Given the description of an element on the screen output the (x, y) to click on. 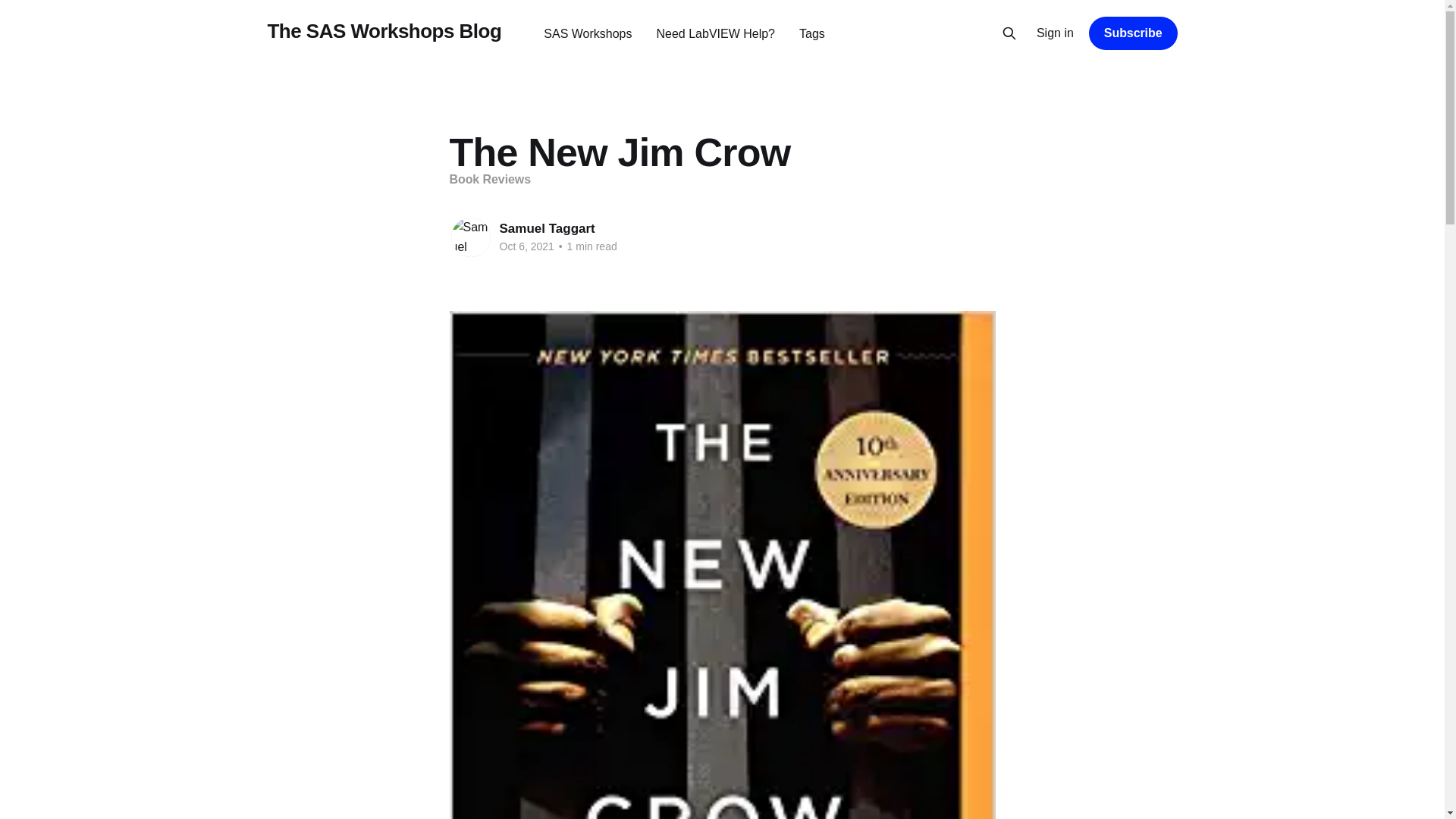
Book Reviews (489, 178)
Sign in (1055, 33)
Tags (812, 33)
Book Reviews (489, 178)
Need LabVIEW Help? (715, 33)
Samuel Taggart (546, 228)
The SAS Workshops Blog (383, 31)
Subscribe (1133, 32)
SAS Workshops (587, 33)
